Given the description of an element on the screen output the (x, y) to click on. 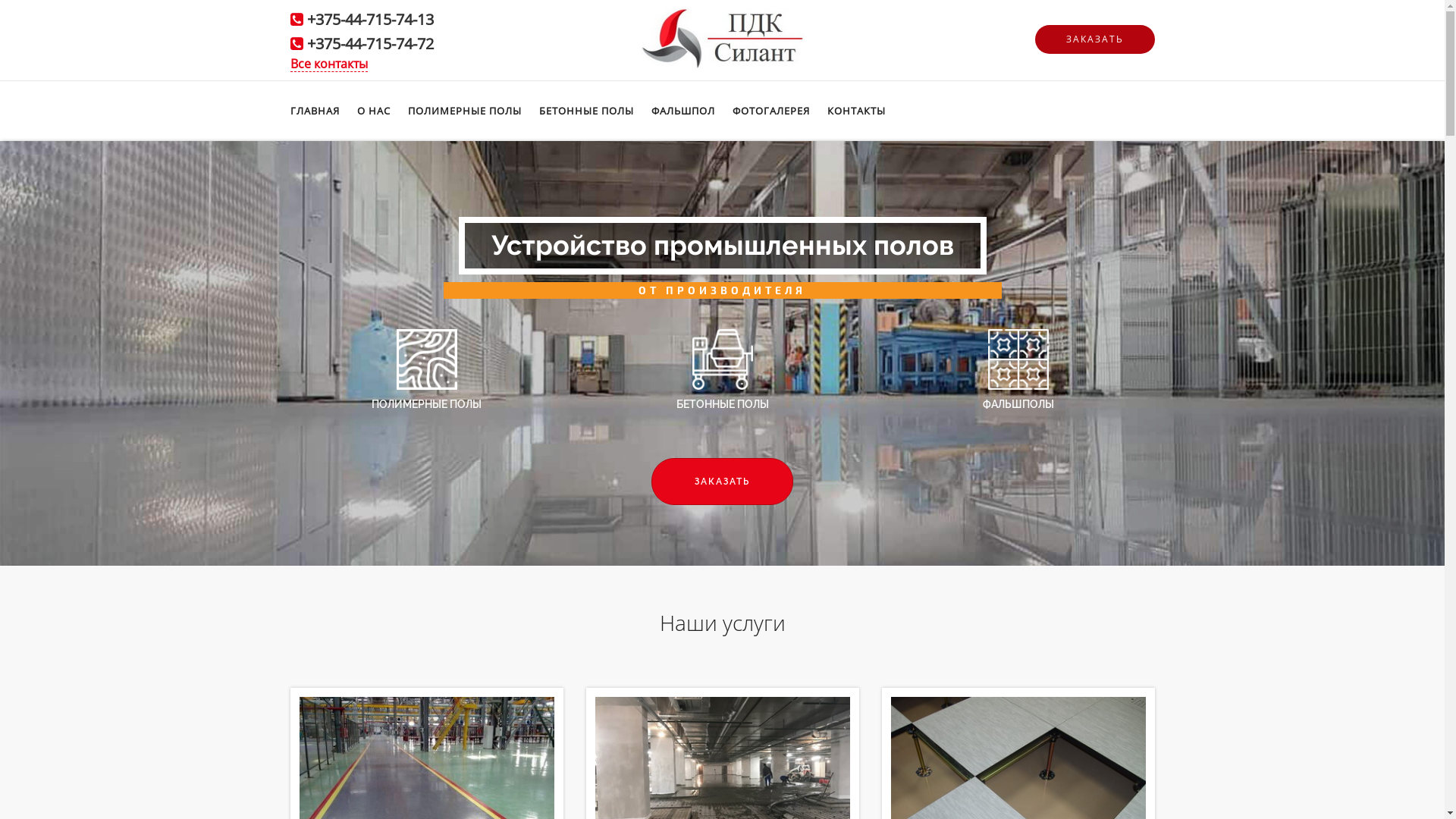
+375-44-715-74-13 Element type: text (369, 19)
Logo Element type: hover (721, 36)
+375-44-715-74-72 Element type: text (369, 43)
